Given the description of an element on the screen output the (x, y) to click on. 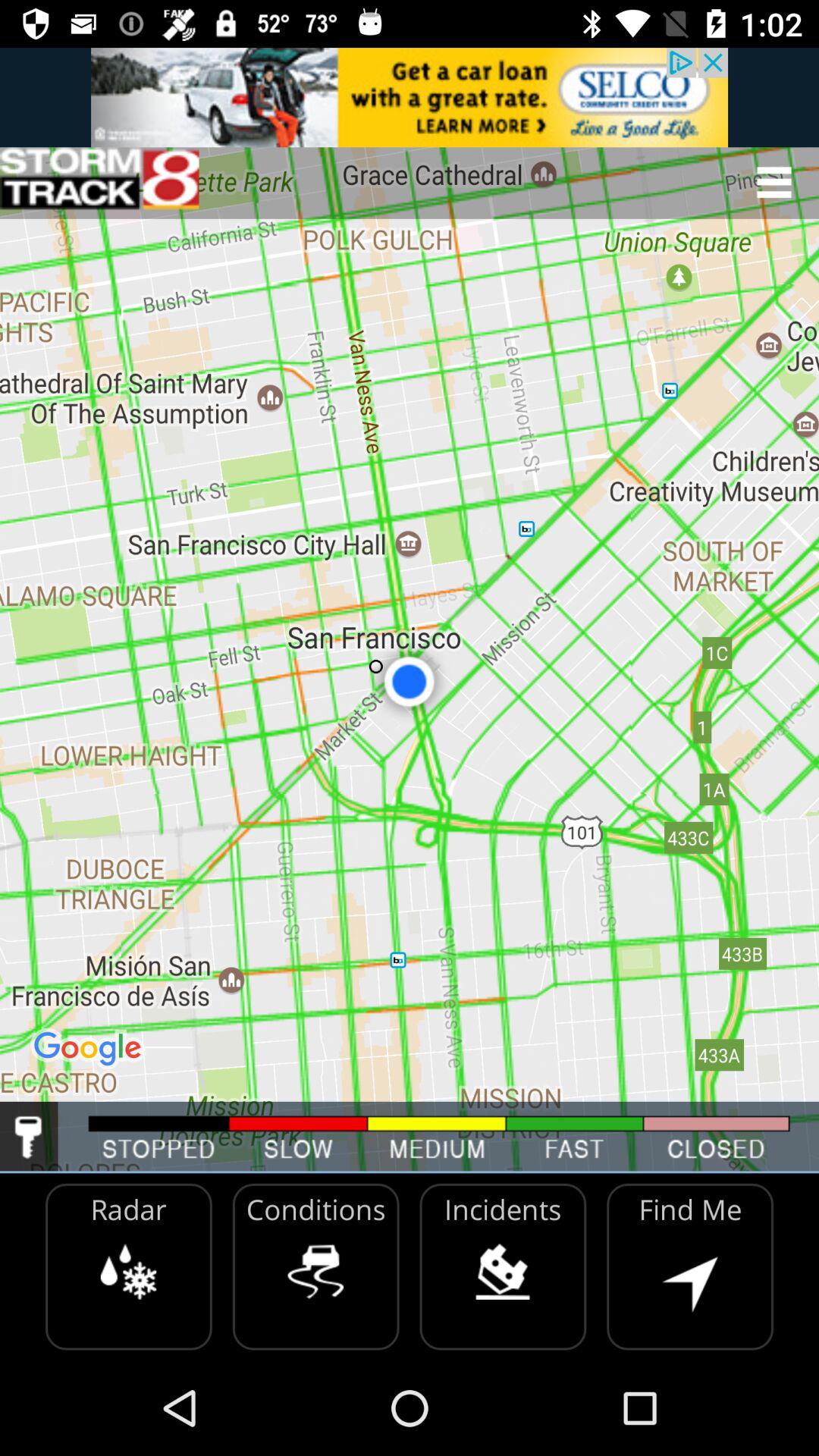
go to home (99, 182)
